Given the description of an element on the screen output the (x, y) to click on. 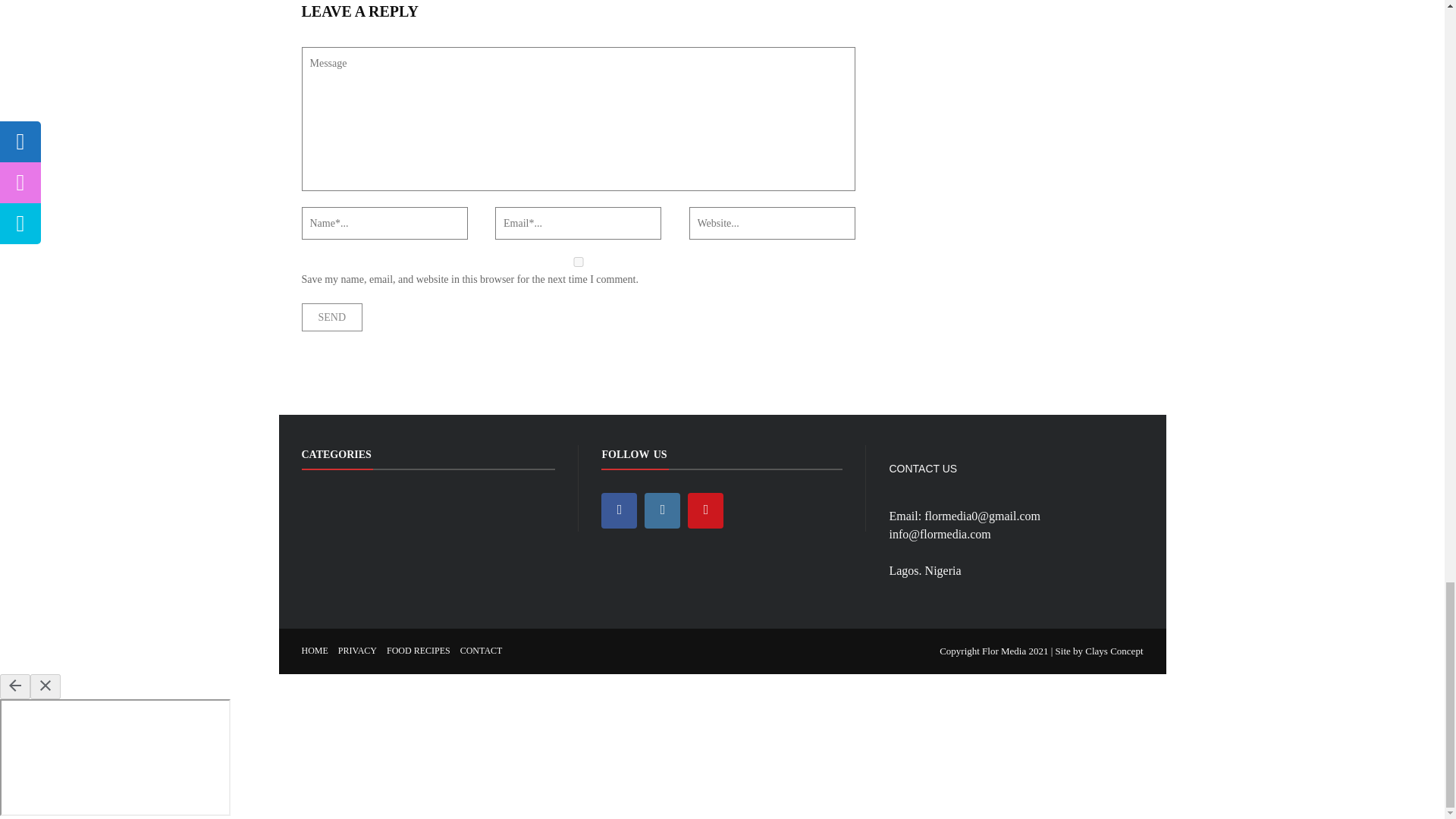
yes (578, 261)
Send (331, 317)
